Given the description of an element on the screen output the (x, y) to click on. 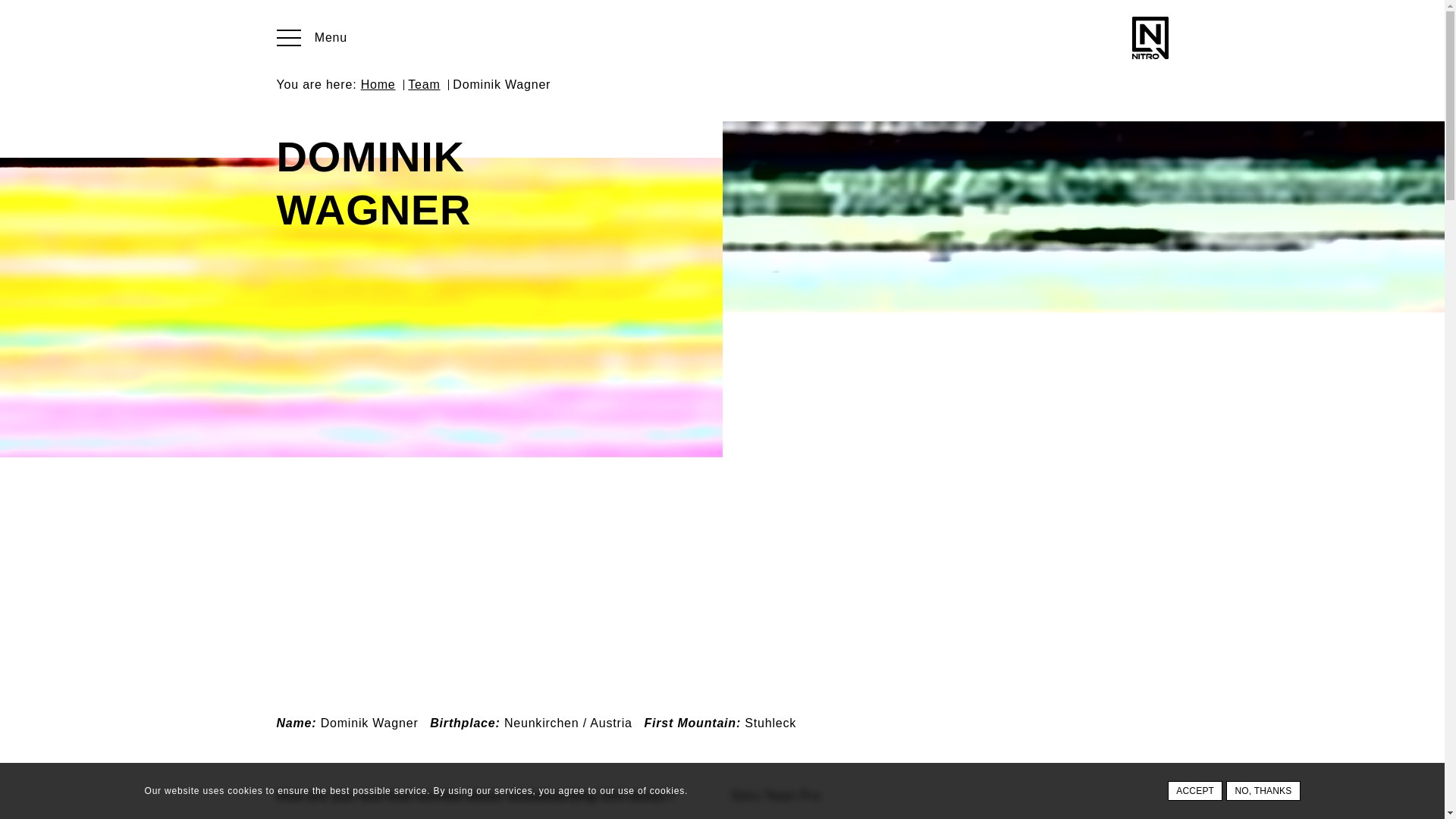
on (8, 10)
ACCEPT (1195, 790)
Team (423, 83)
NO, THANKS (1262, 790)
Home (378, 83)
